Given the description of an element on the screen output the (x, y) to click on. 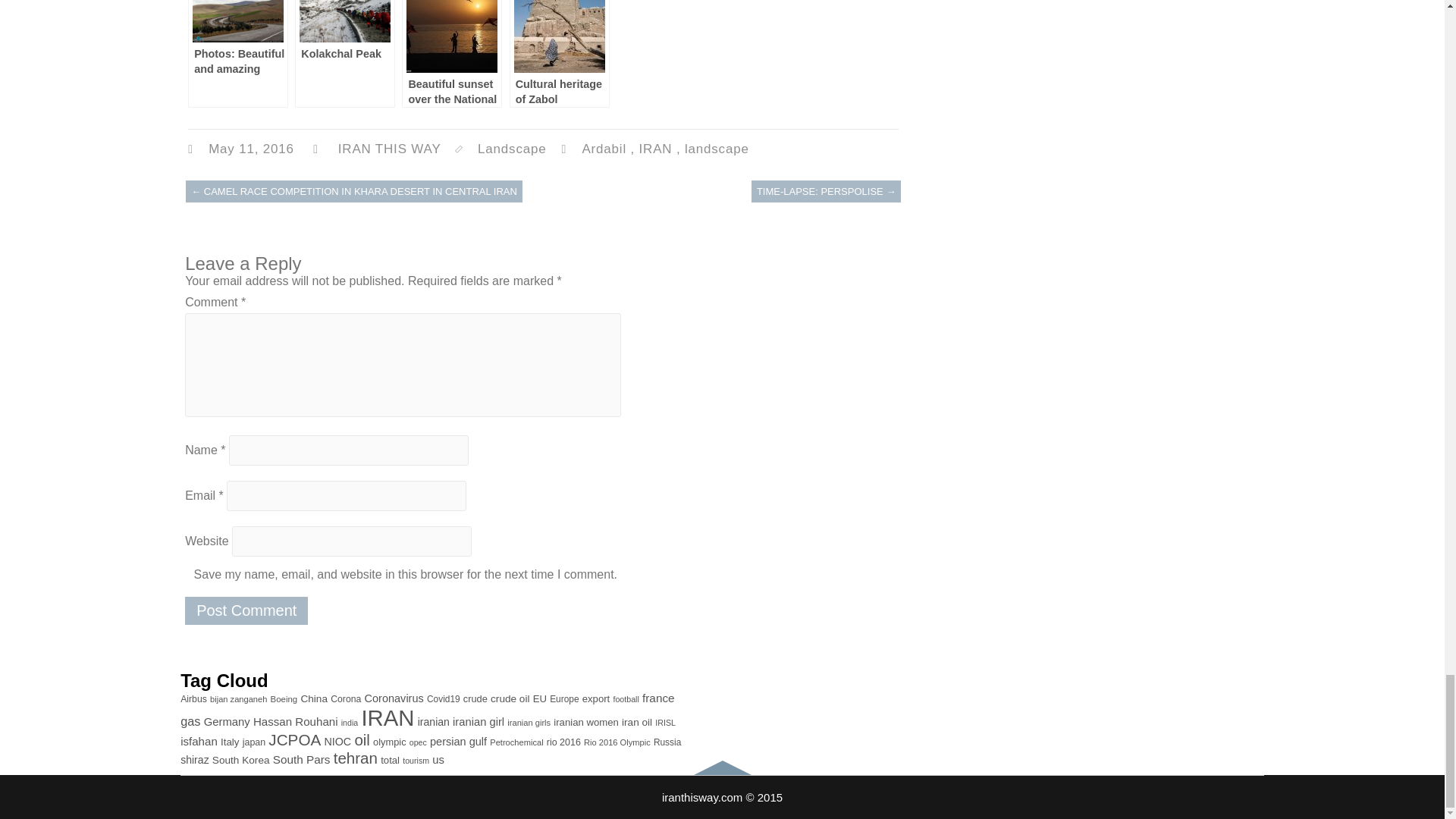
Post Comment (245, 610)
